Given the description of an element on the screen output the (x, y) to click on. 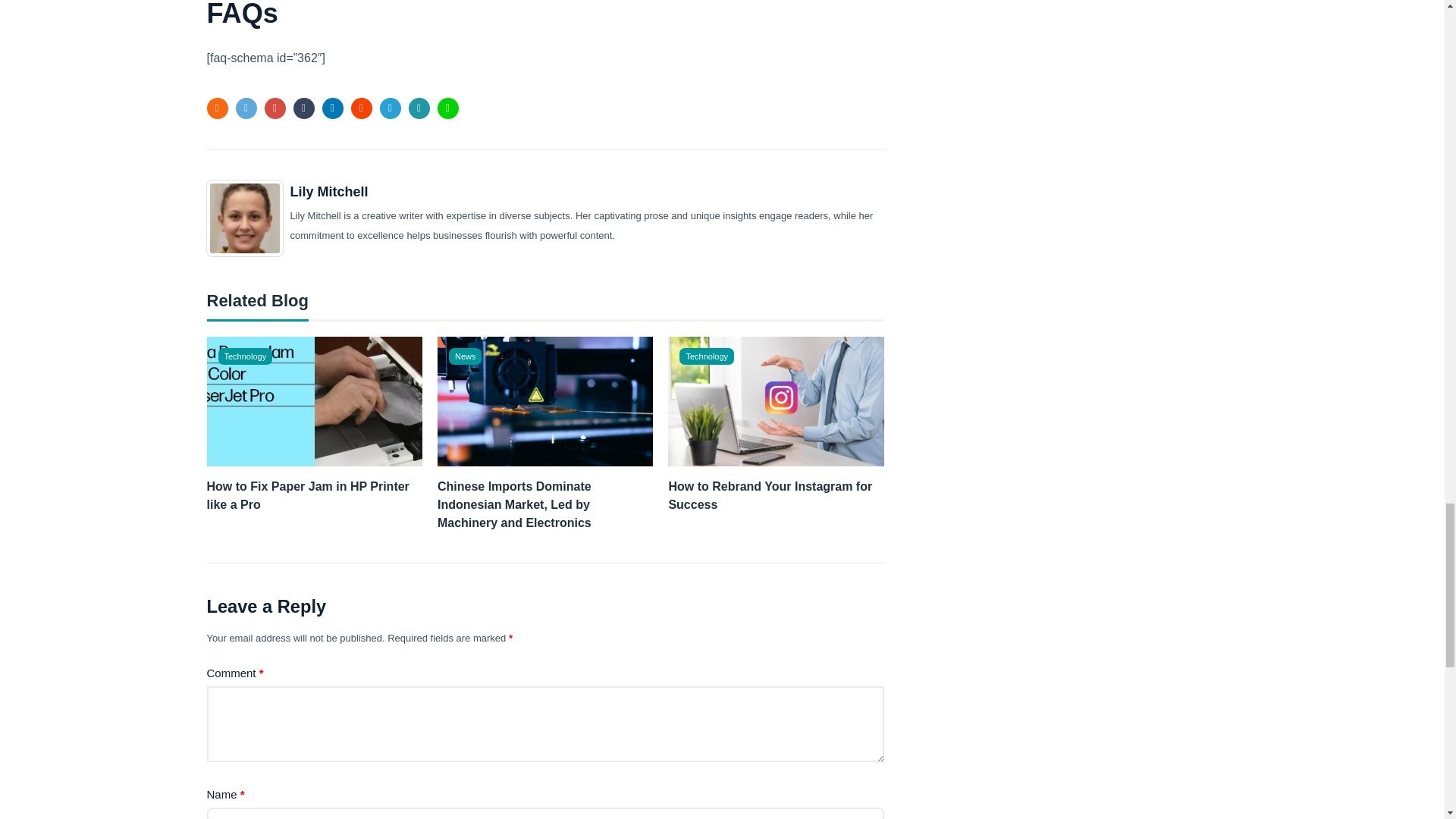
Technology (706, 356)
Posts by Lily Mitchell (328, 191)
Technology (245, 356)
News (464, 356)
Lily Mitchell (328, 191)
How to Fix Paper Jam in HP Printer like a Pro (314, 495)
How to Rebrand Your Instagram for Success (775, 495)
